Given the description of an element on the screen output the (x, y) to click on. 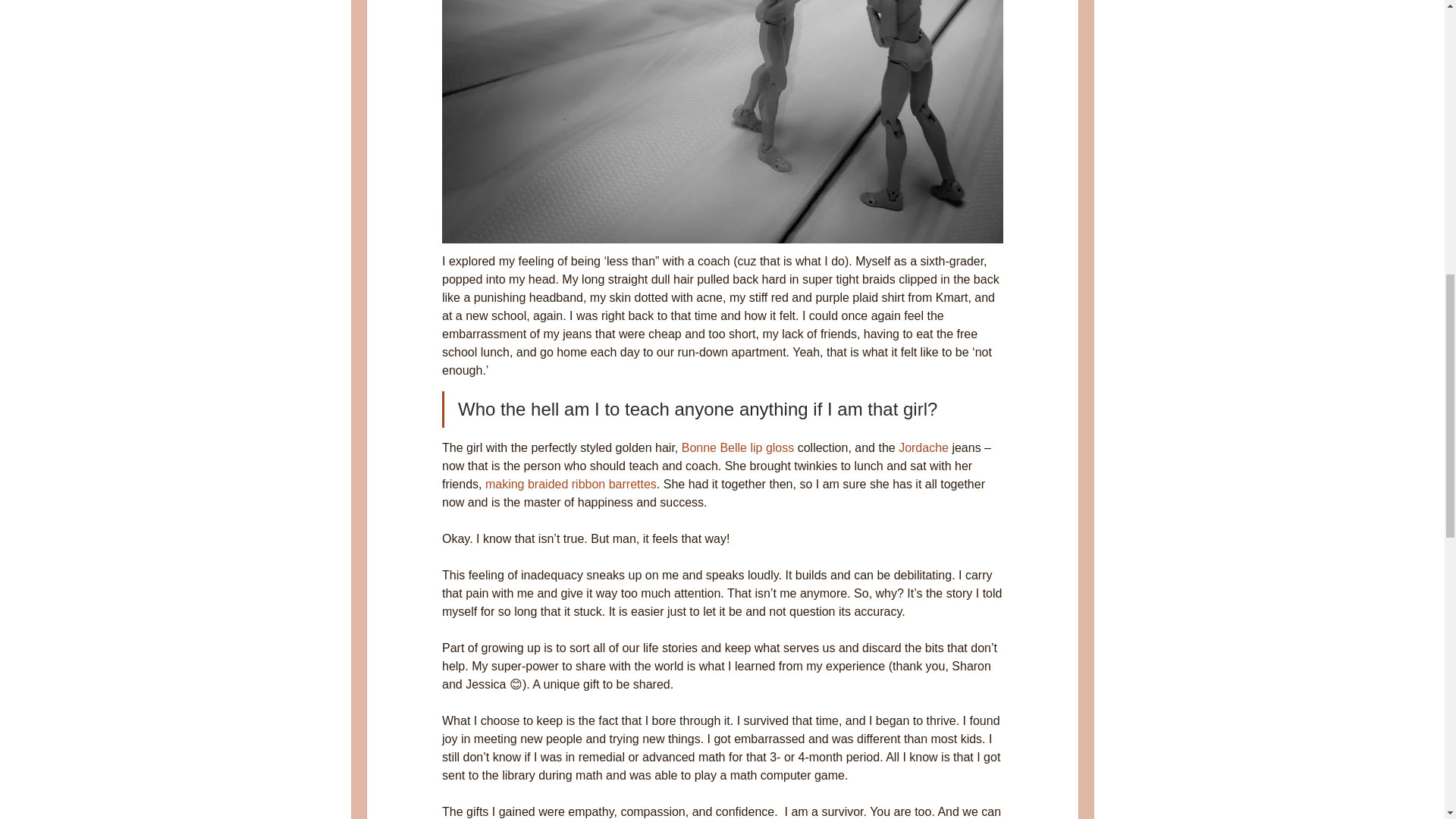
Bonne Belle lip gloss (737, 447)
making braided ribbon barrettes (570, 483)
Jordache (923, 447)
